Given the description of an element on the screen output the (x, y) to click on. 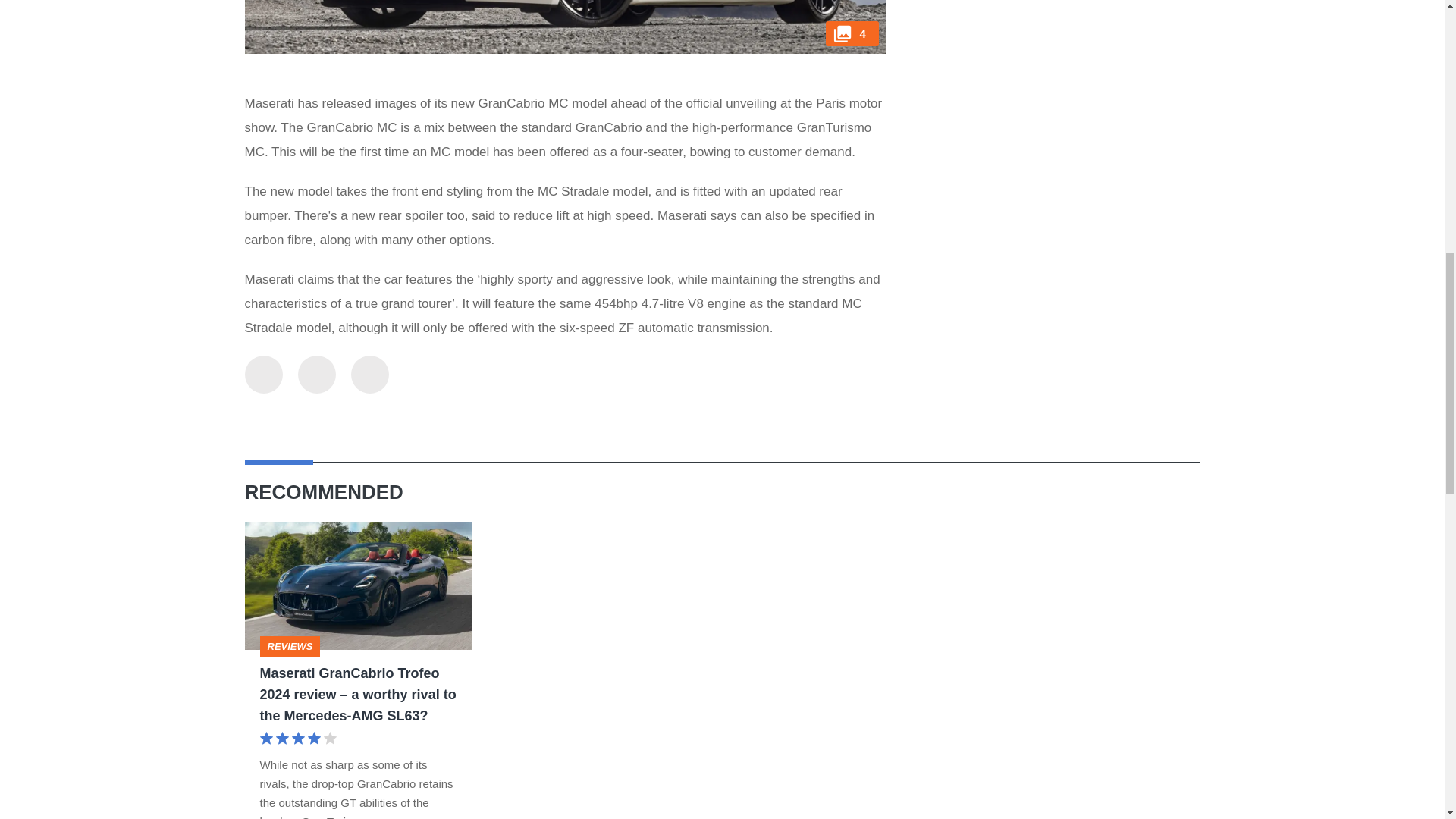
4 Stars (297, 740)
4 (564, 27)
Share this on Twitter (263, 377)
Share this on Facebook (315, 377)
MC Stradale model (592, 191)
Email (369, 377)
